Given the description of an element on the screen output the (x, y) to click on. 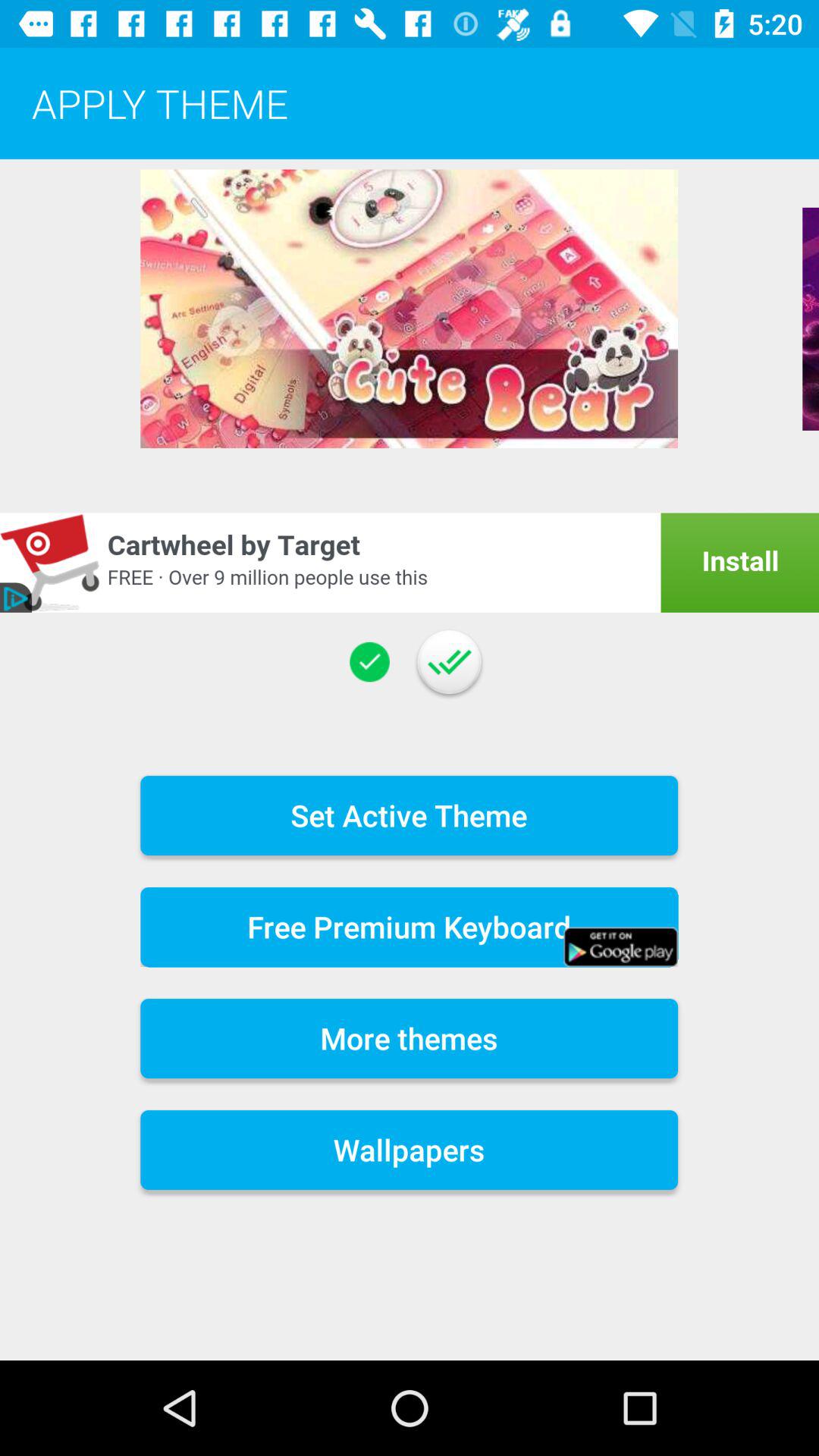
press item below the free premium keyboard icon (408, 1038)
